Given the description of an element on the screen output the (x, y) to click on. 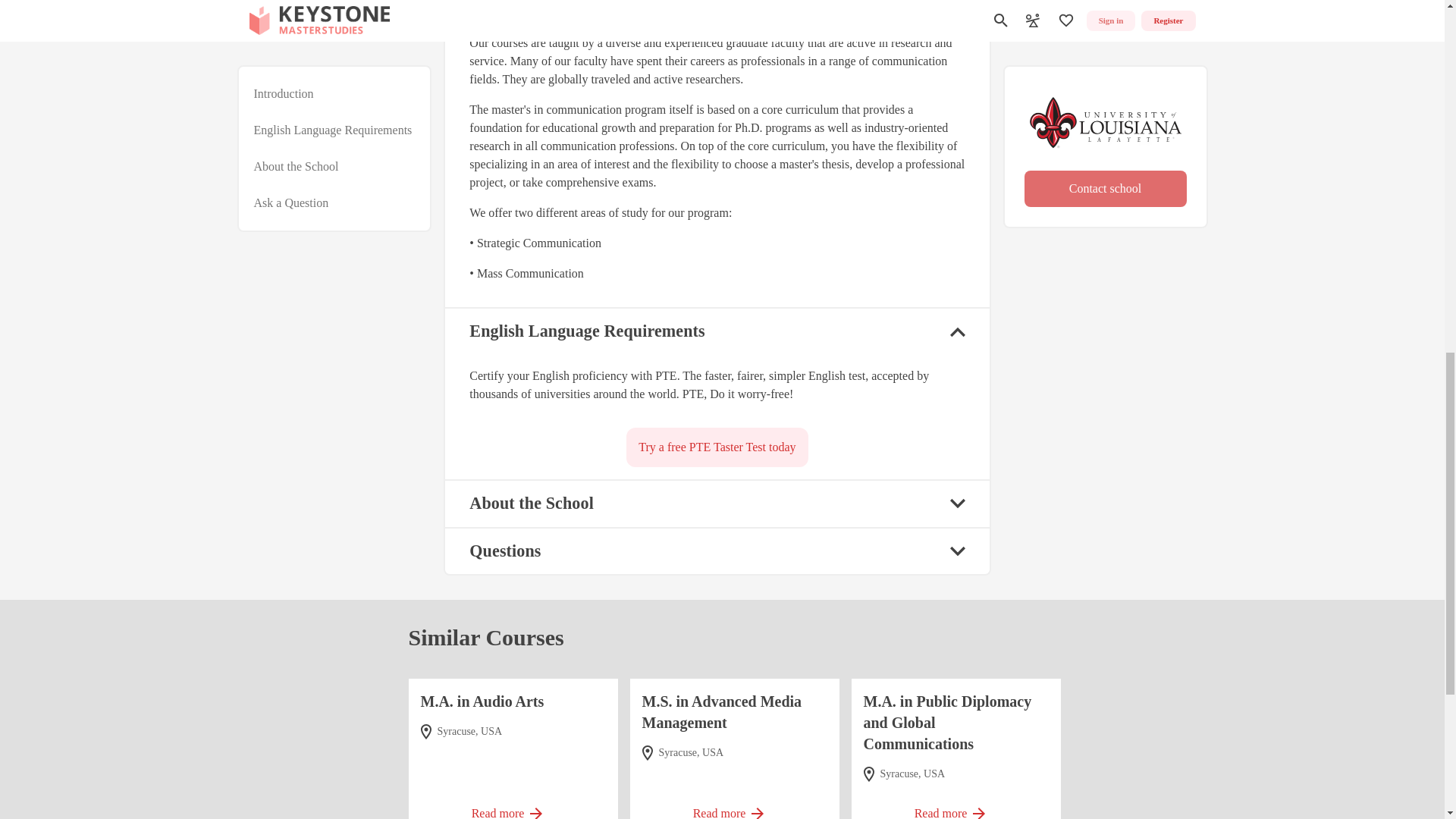
Try a free PTE Taster Test today (717, 446)
Read more (955, 806)
Read more (734, 806)
Read more (512, 806)
